Given the description of an element on the screen output the (x, y) to click on. 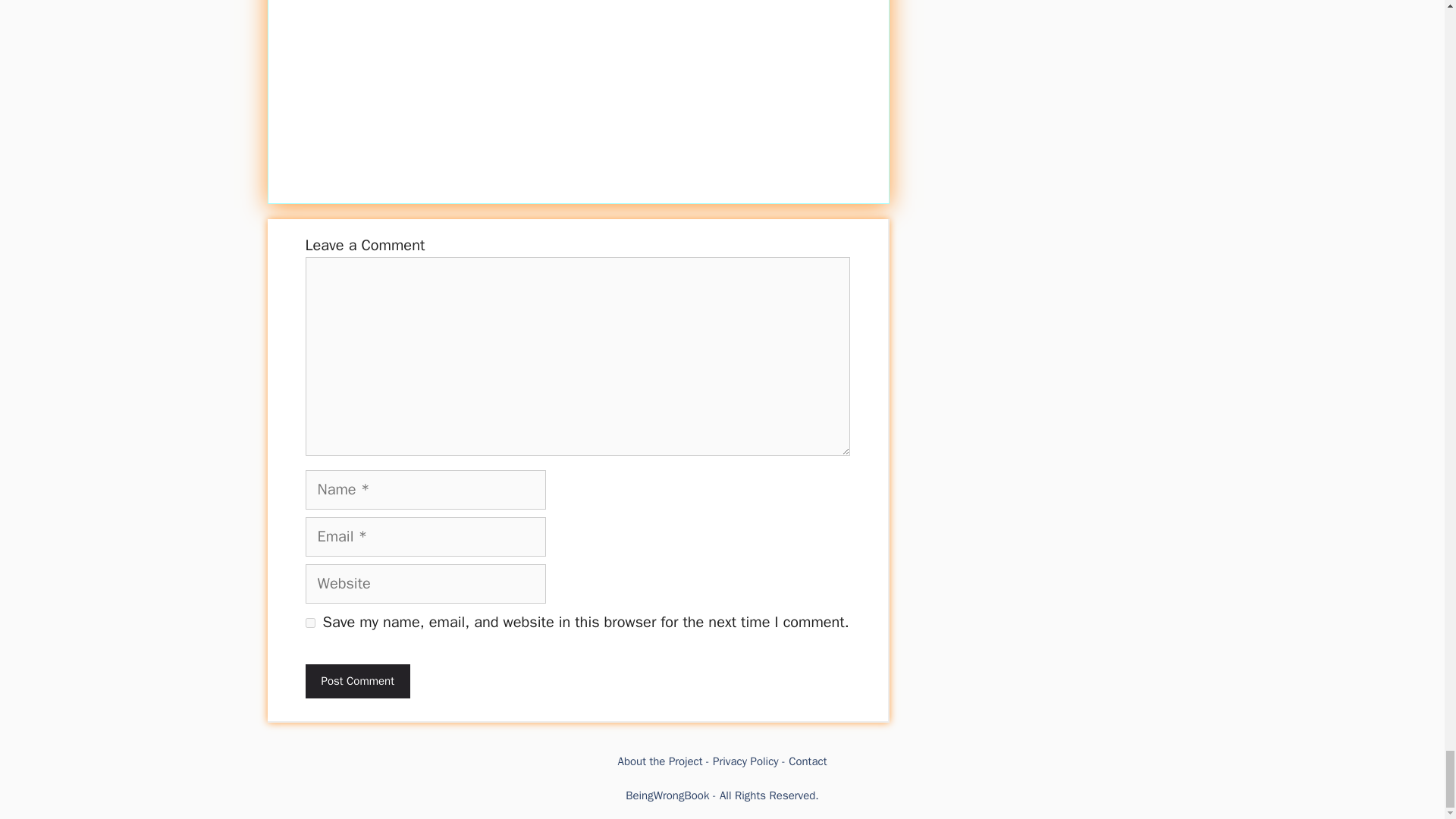
yes (309, 623)
Post Comment (356, 681)
Privacy Policy (745, 761)
Post Comment (356, 681)
About the Project (660, 761)
